Given the description of an element on the screen output the (x, y) to click on. 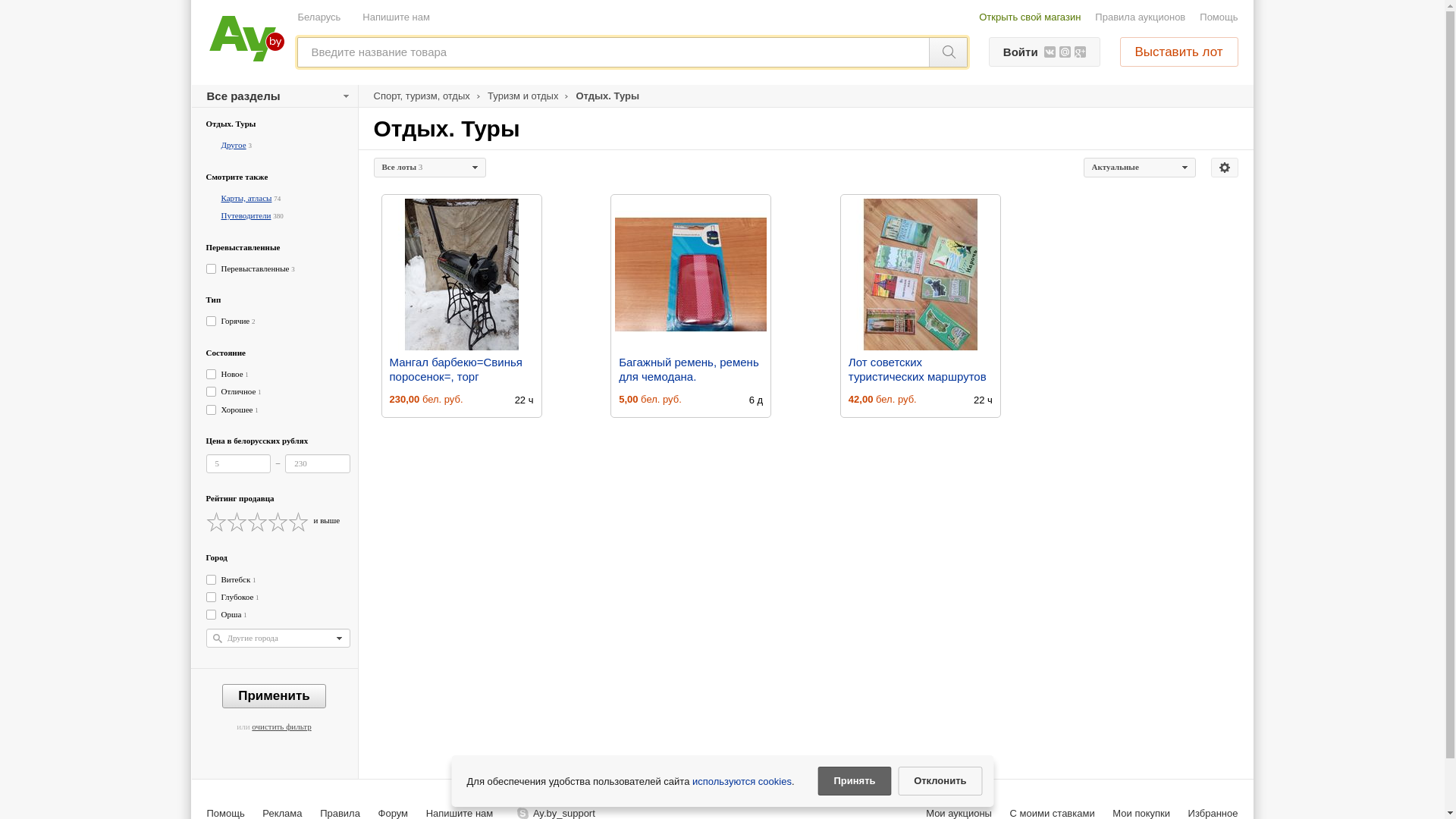
login Element type: text (721, 172)
pp Element type: text (721, 291)
